Given the description of an element on the screen output the (x, y) to click on. 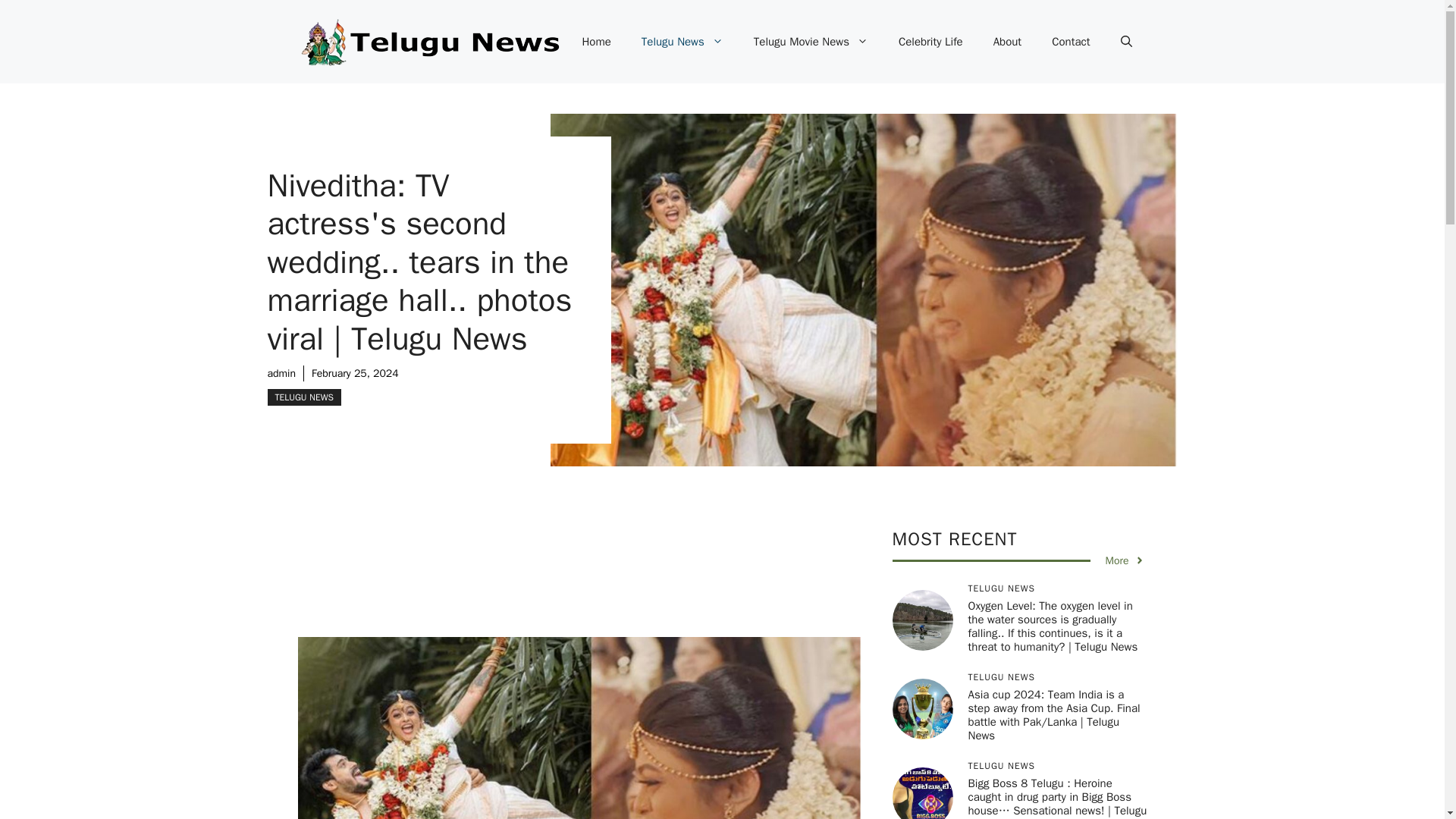
Home (596, 41)
About (1007, 41)
Celebrity Life (930, 41)
Contact (1070, 41)
admin (280, 373)
Telugu Movie News (810, 41)
Advertisement (600, 581)
TELUGU NEWS (303, 397)
Telugu News (682, 41)
